Given the description of an element on the screen output the (x, y) to click on. 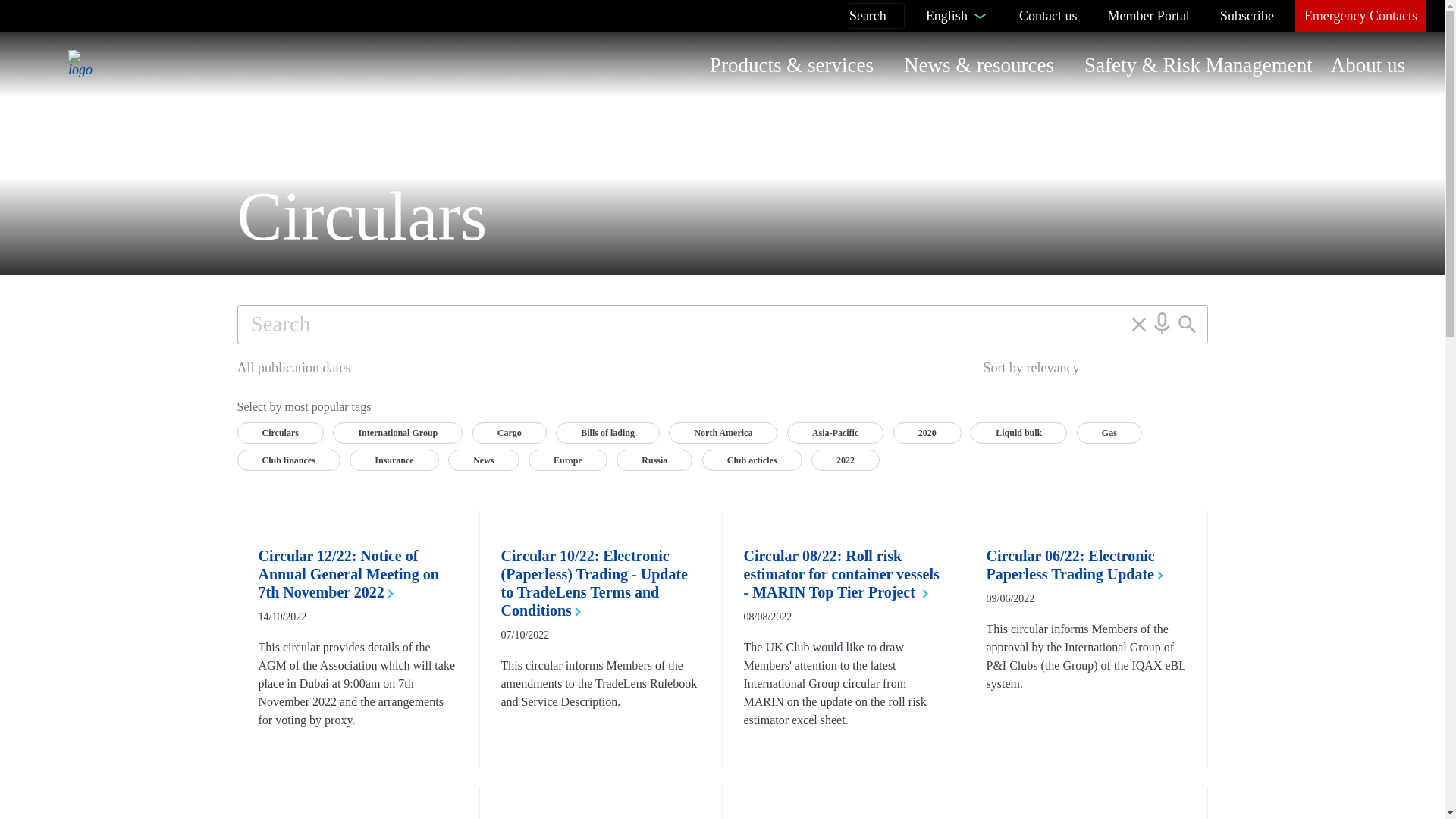
About us (1367, 65)
Contact us (1048, 15)
English (946, 15)
Member Portal (1147, 15)
Emergency Contacts (1360, 15)
Subscribe (1246, 15)
